Given the description of an element on the screen output the (x, y) to click on. 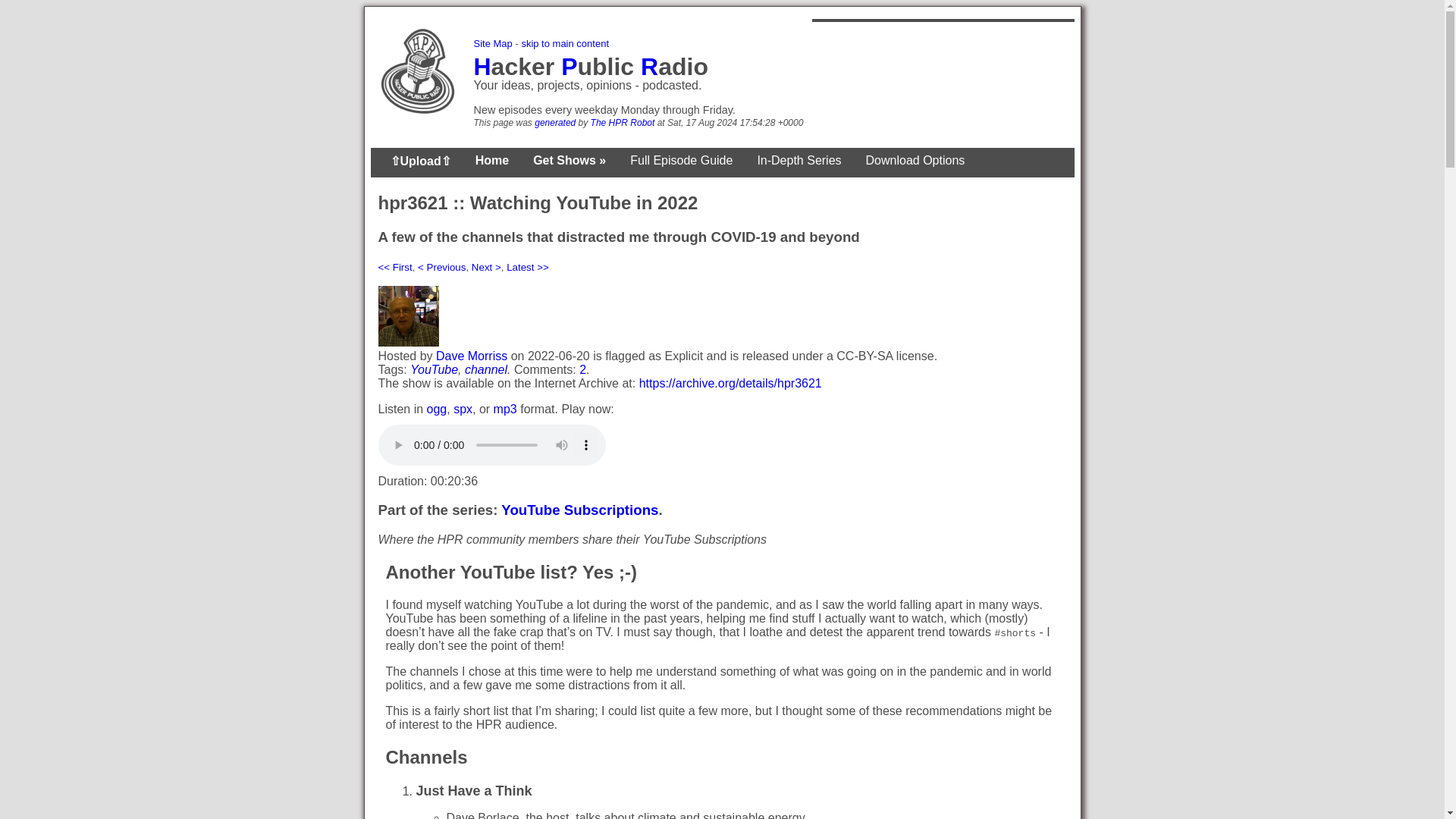
channel (485, 369)
mp3 (504, 408)
spx (461, 408)
YouTube Subscriptions (579, 509)
Home (492, 160)
ogg (436, 408)
Full Episode Guide (681, 160)
Dave Morriss (470, 355)
skip to main content (564, 43)
The HPR Robot (623, 122)
